Given the description of an element on the screen output the (x, y) to click on. 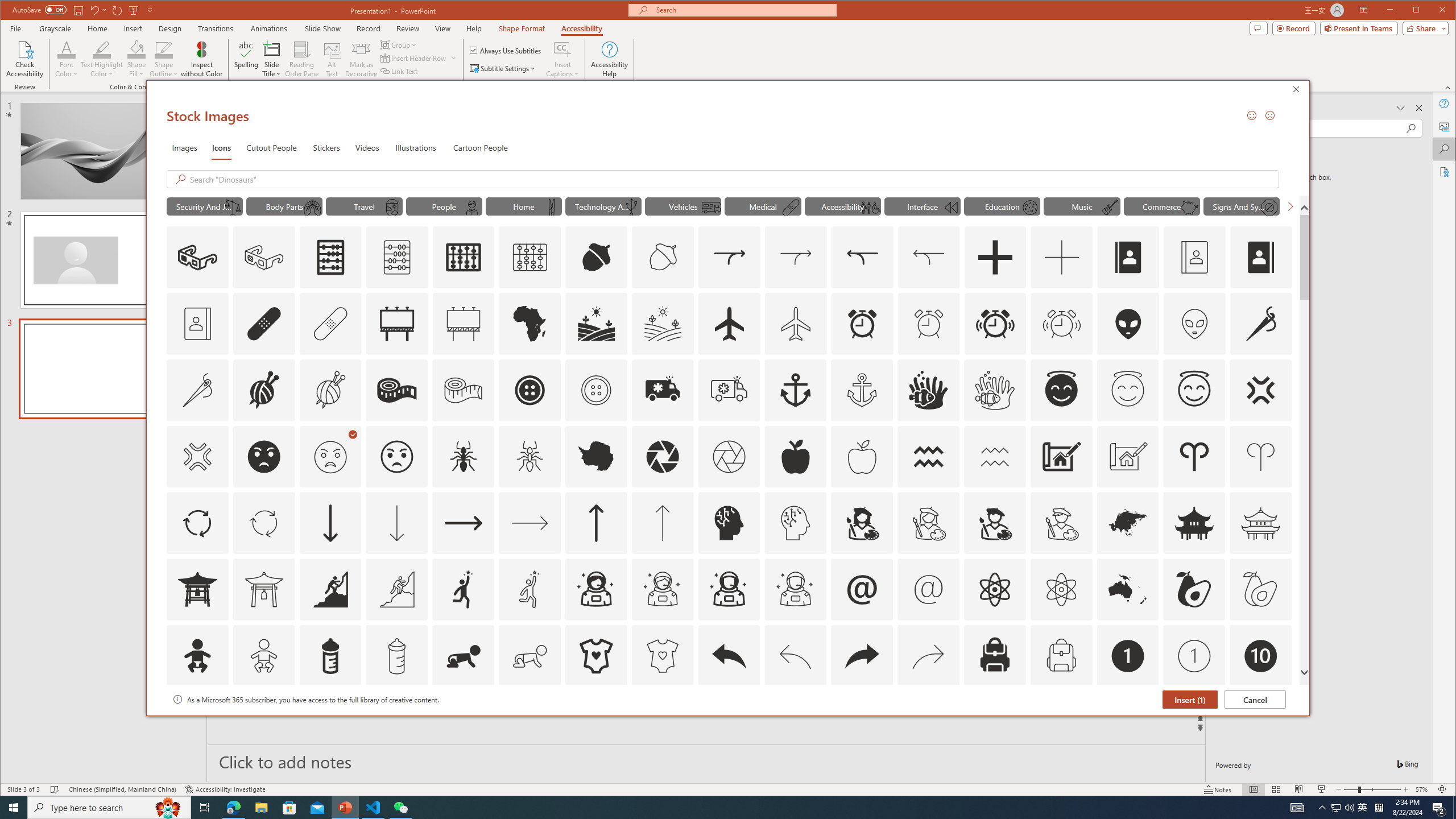
AutomationID: Icons_Ambulance (662, 389)
Shape Outline Blue, Accent 1 (163, 48)
AutomationID: Icons_AstronautFemale_M (662, 589)
Send a Frown (1269, 115)
AutomationID: Icons_Aquarius_M (994, 456)
Insert Header Row (413, 57)
"Security And Justice" Icons. (204, 206)
"Medical" Icons. (762, 206)
"Accessibility" Icons. (842, 206)
Insert Captions (562, 48)
AutomationID: Icons_AddressBook_RTL_M (197, 323)
AutomationID: Icons_Badge7_M (994, 721)
